Given the description of an element on the screen output the (x, y) to click on. 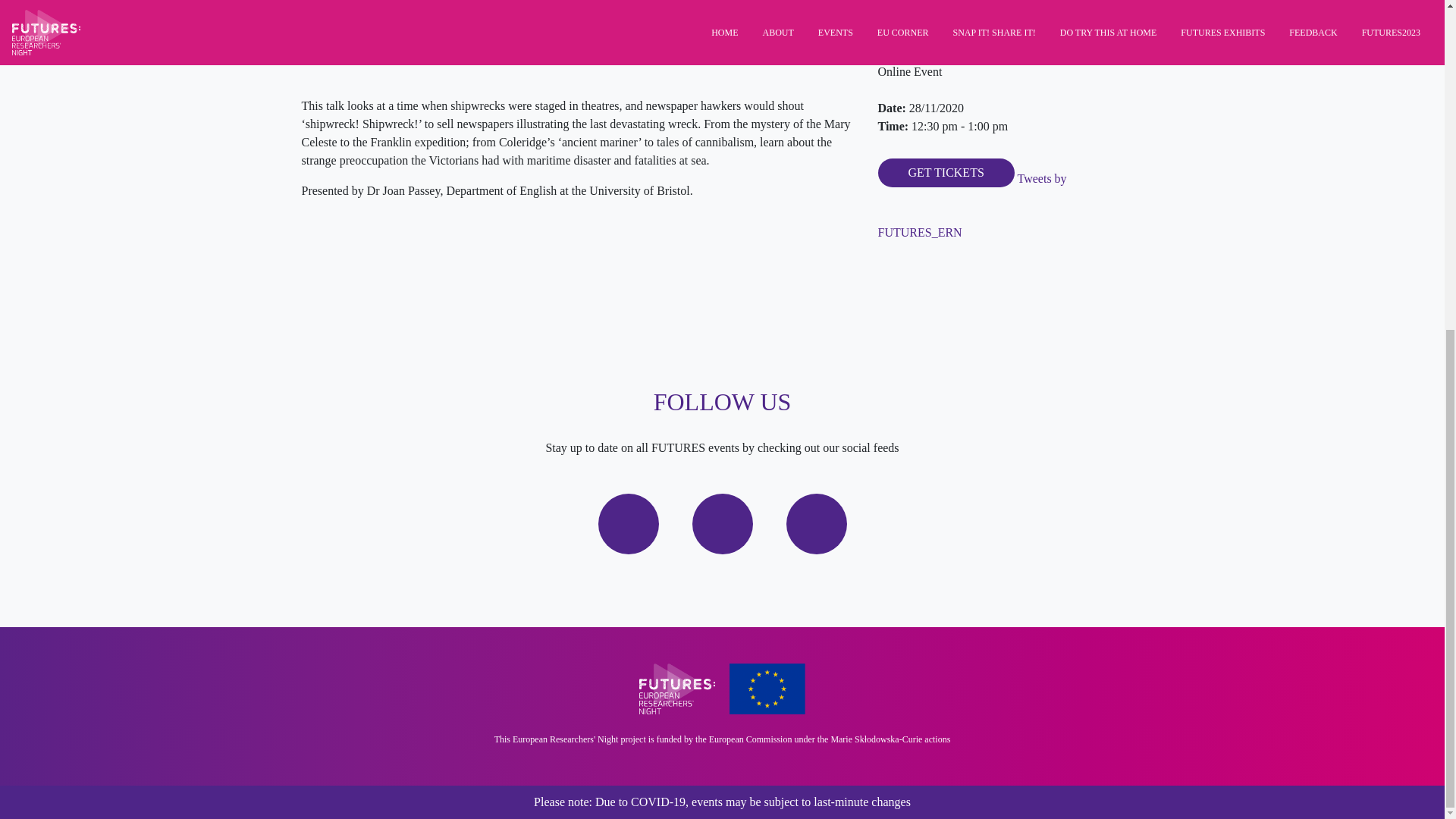
GET TICKETS (945, 172)
